Given the description of an element on the screen output the (x, y) to click on. 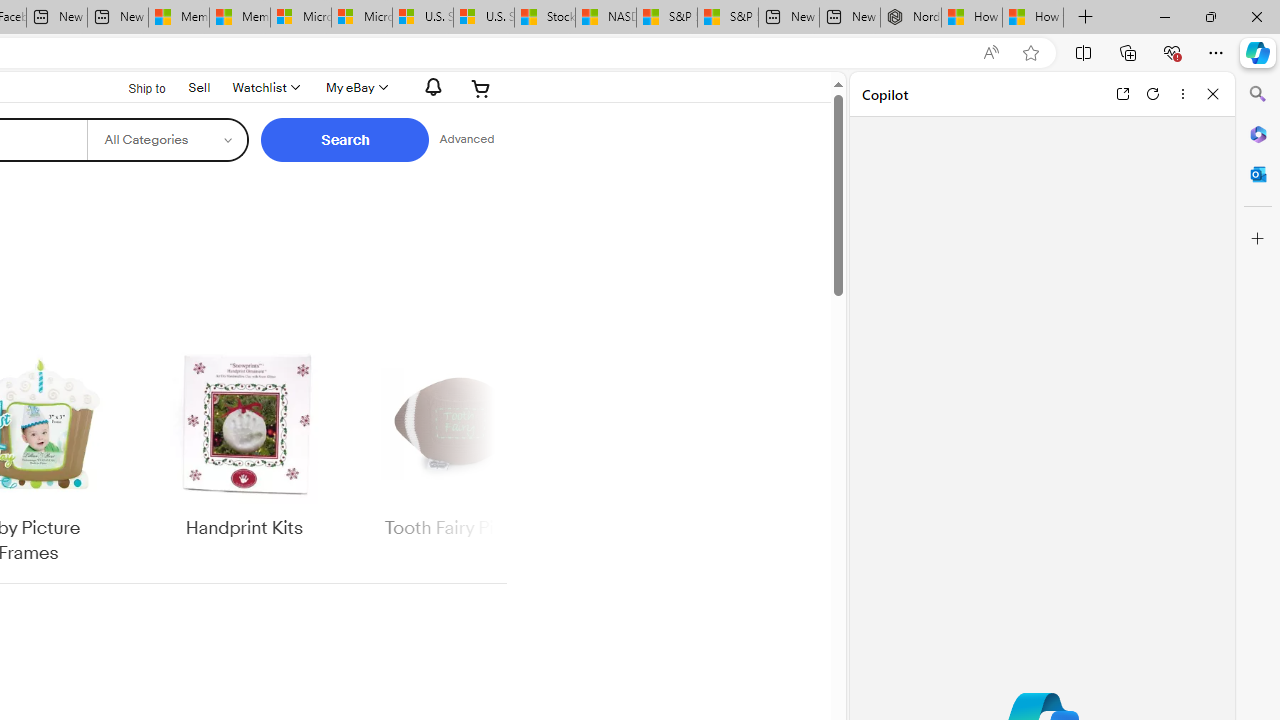
Open link in new tab (1122, 93)
Sell (199, 87)
AutomationID: gh-eb-Alerts (430, 87)
My eBayExpand My eBay (354, 88)
My eBay (354, 88)
How to Use a Monitor With Your Closed Laptop (1033, 17)
Microsoft 365 (1258, 133)
Expand Cart (481, 88)
Watchlist (264, 88)
